Given the description of an element on the screen output the (x, y) to click on. 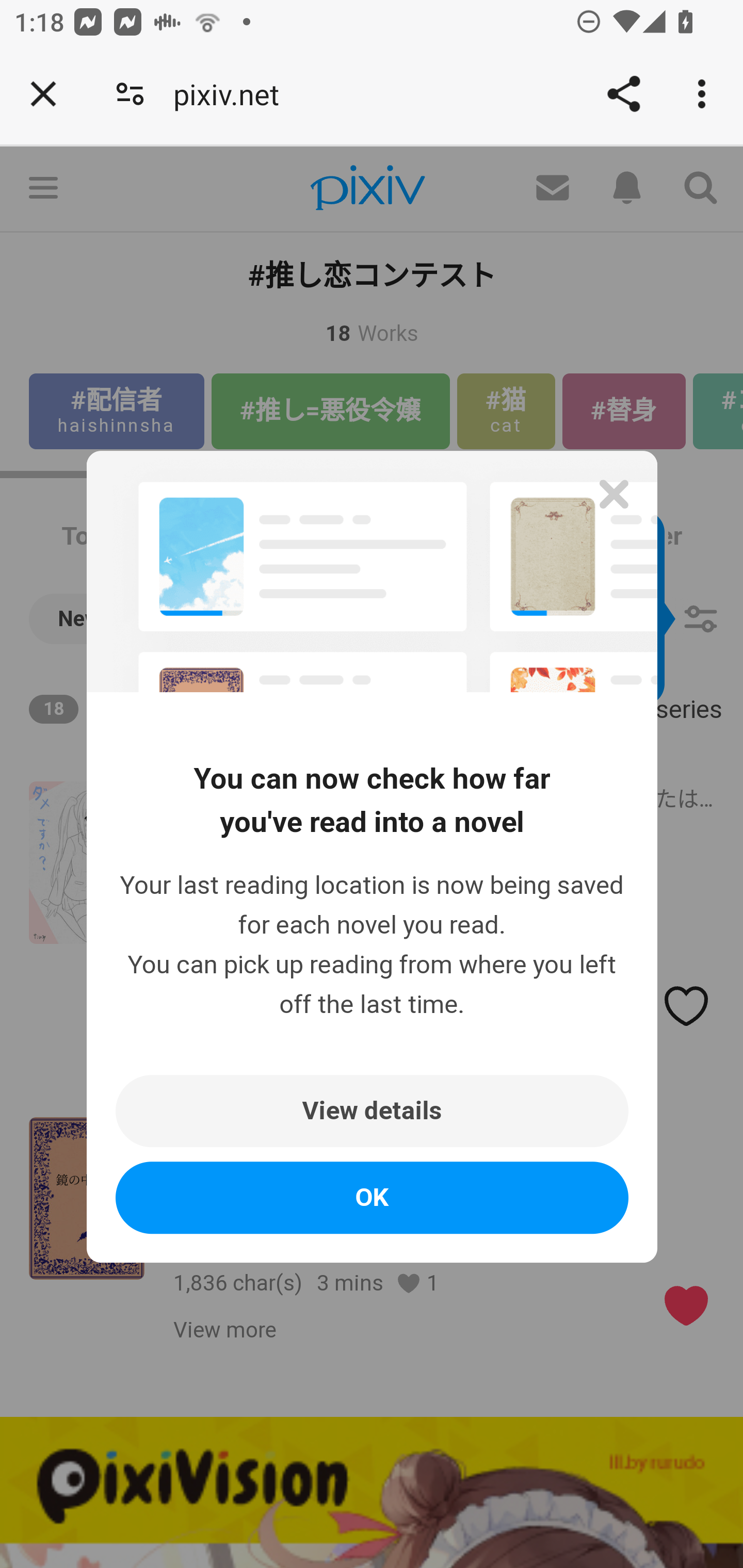
Close tab (43, 93)
Share (623, 93)
Customize and control Google Chrome (705, 93)
Connection is secure (129, 93)
pixiv.net (233, 93)
OK (372, 1197)
